Given the description of an element on the screen output the (x, y) to click on. 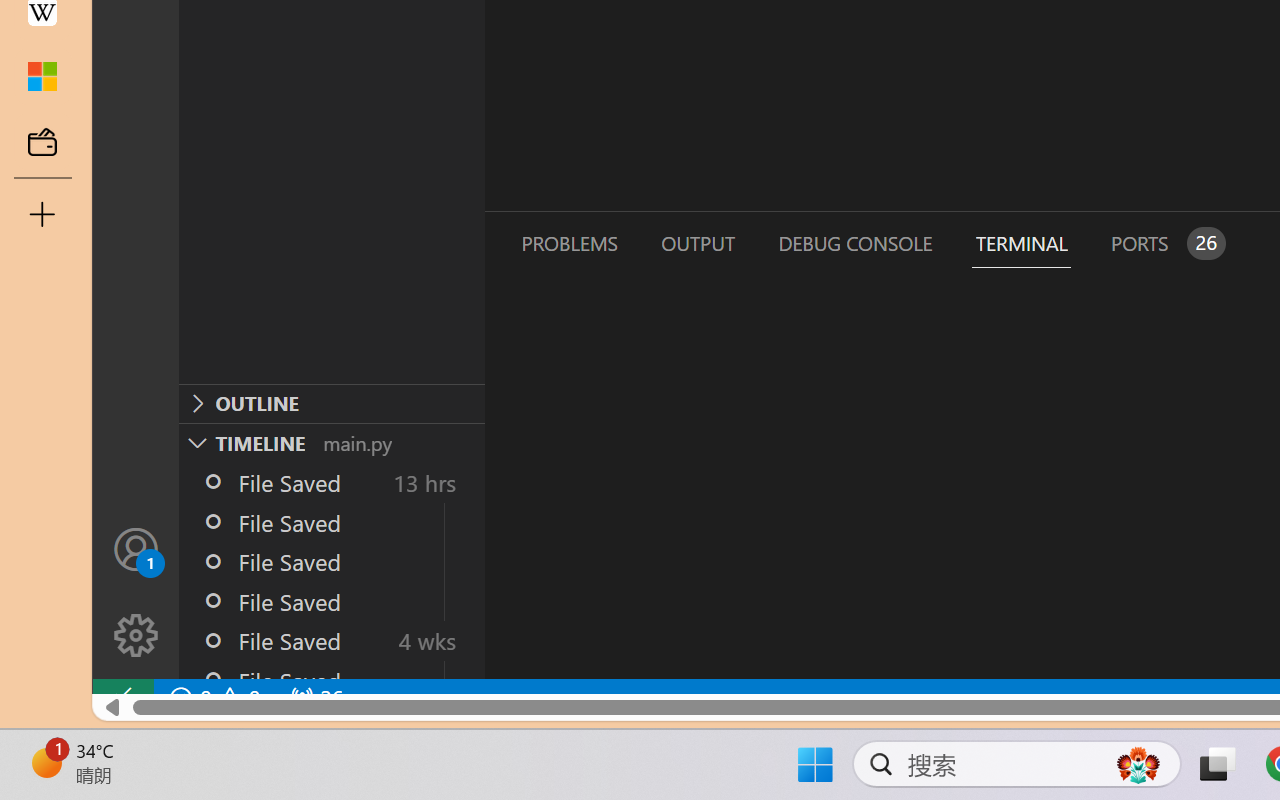
remote (122, 698)
No Problems (212, 698)
Output (Ctrl+Shift+U) (696, 243)
